Given the description of an element on the screen output the (x, y) to click on. 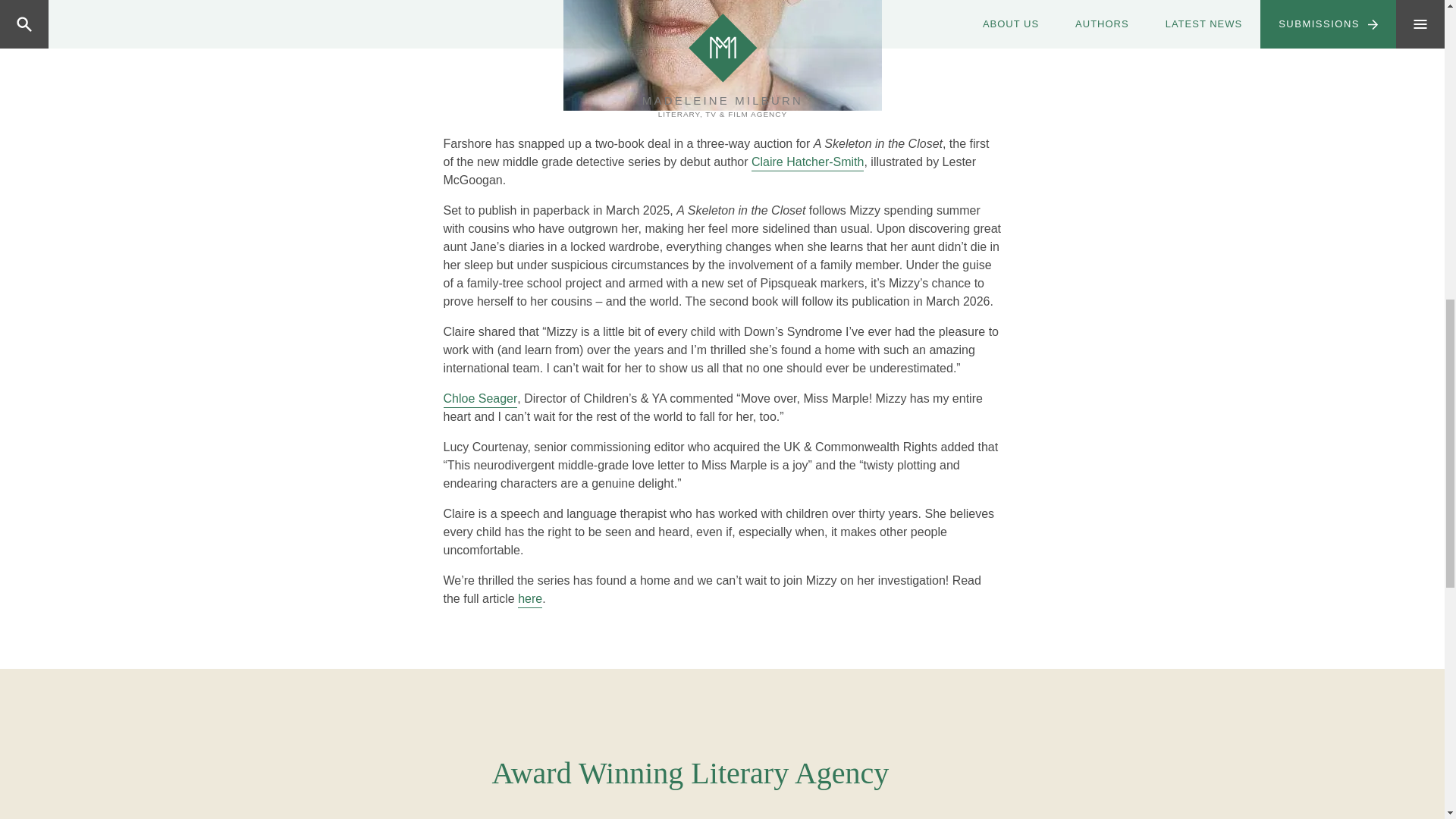
Chloe Seager (479, 398)
Claire Hatcher-Smith (807, 162)
here (529, 598)
